Given the description of an element on the screen output the (x, y) to click on. 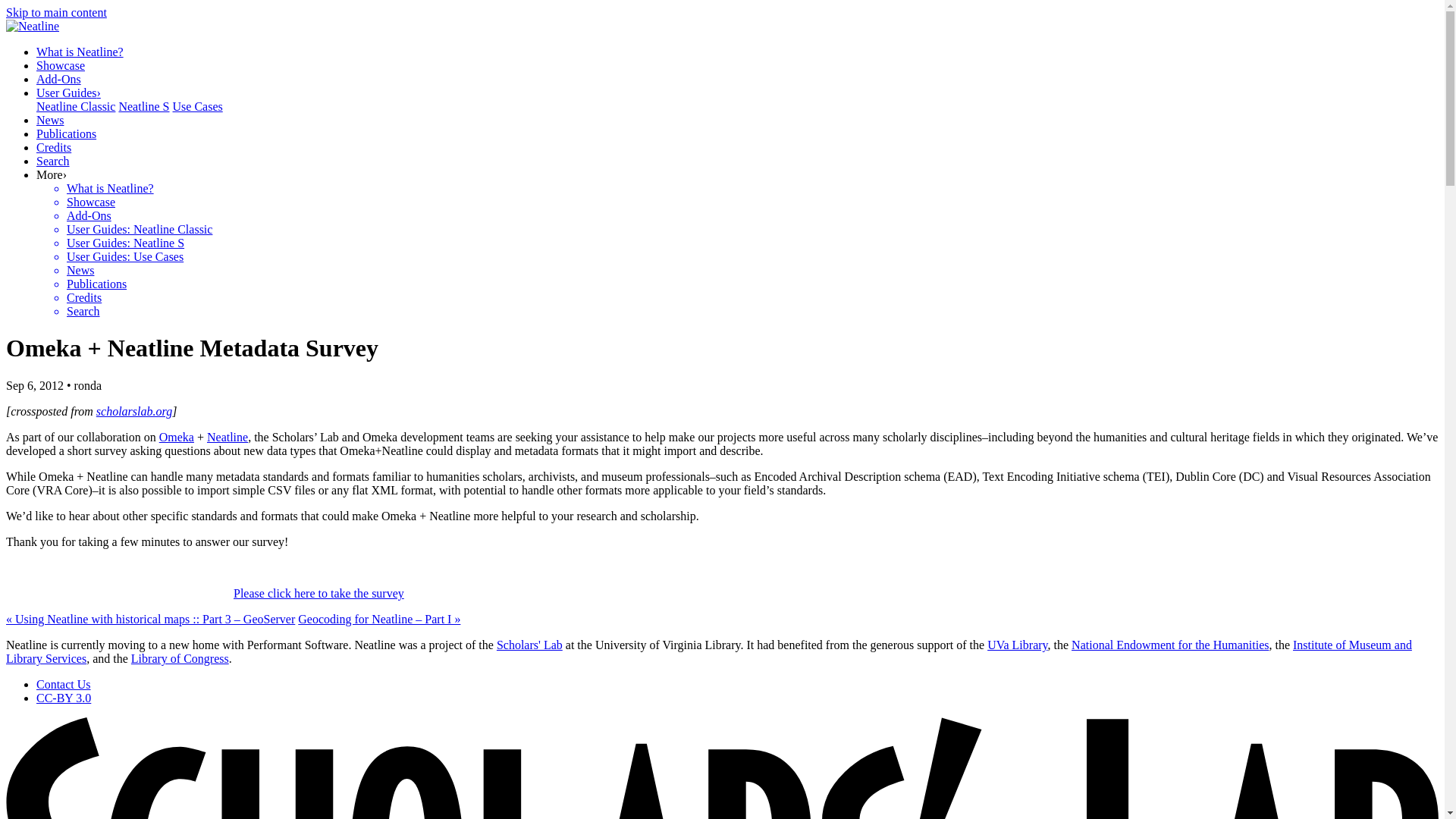
scholarslab.org (133, 410)
Scholars' Lab (529, 644)
Add-Ons (58, 78)
National Endowment for the Humanities (1169, 644)
Neatline (32, 25)
Library of Congress (179, 658)
Neatline S (142, 106)
News (50, 119)
Search (52, 160)
CC-BY 3.0 (63, 697)
Publications (66, 133)
Institute of Museum and Library Services (708, 651)
Showcase (60, 65)
Credits (53, 146)
Omeka (175, 436)
